Given the description of an element on the screen output the (x, y) to click on. 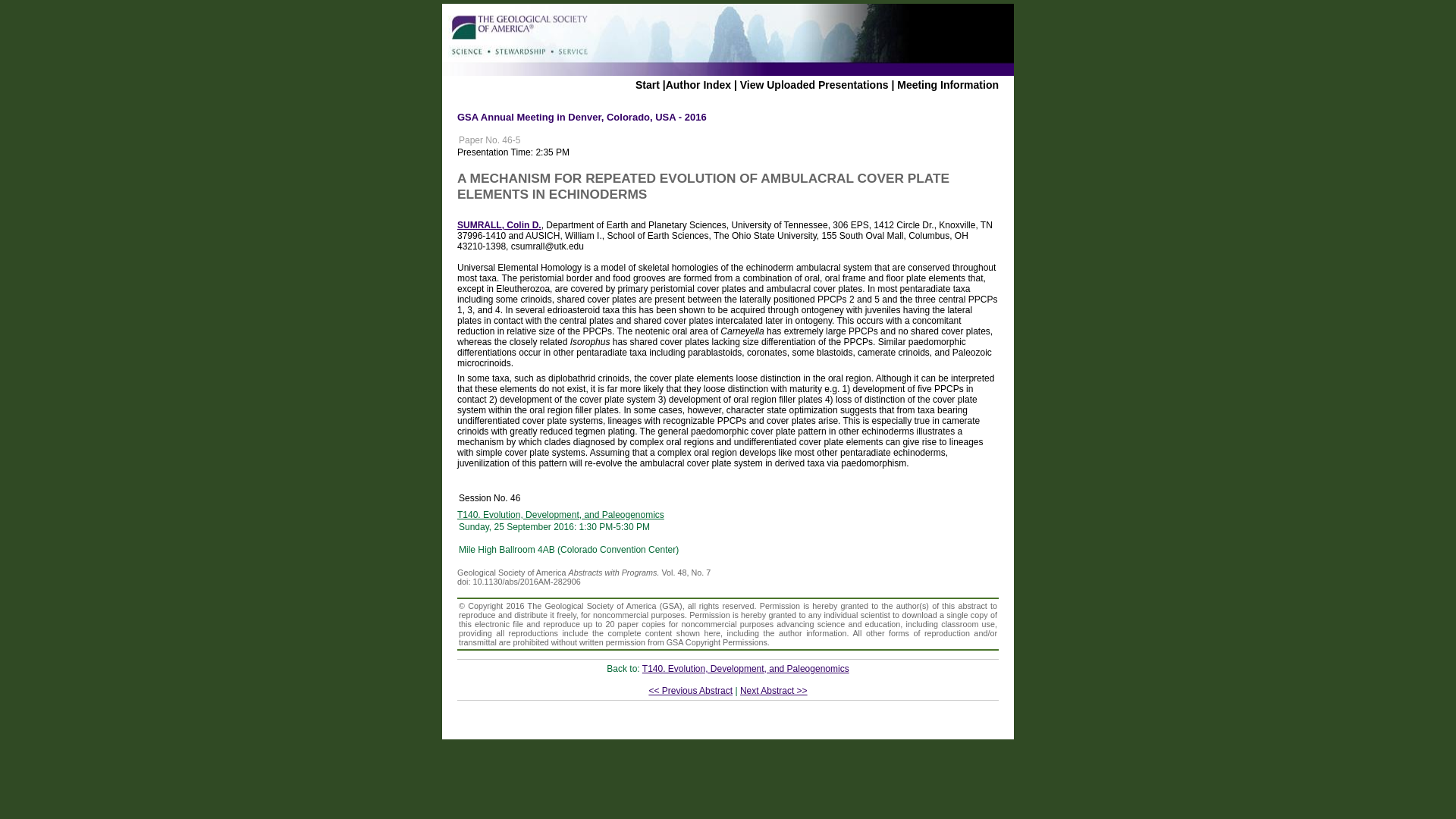
T140. Evolution, Development, and Paleogenomics (745, 668)
Meeting Information (947, 84)
T140. Evolution, Development, and Paleogenomics (560, 514)
Start (646, 84)
Author Index (697, 84)
SUMRALL, Colin D. (499, 225)
View Uploaded Presentations (813, 84)
